Given the description of an element on the screen output the (x, y) to click on. 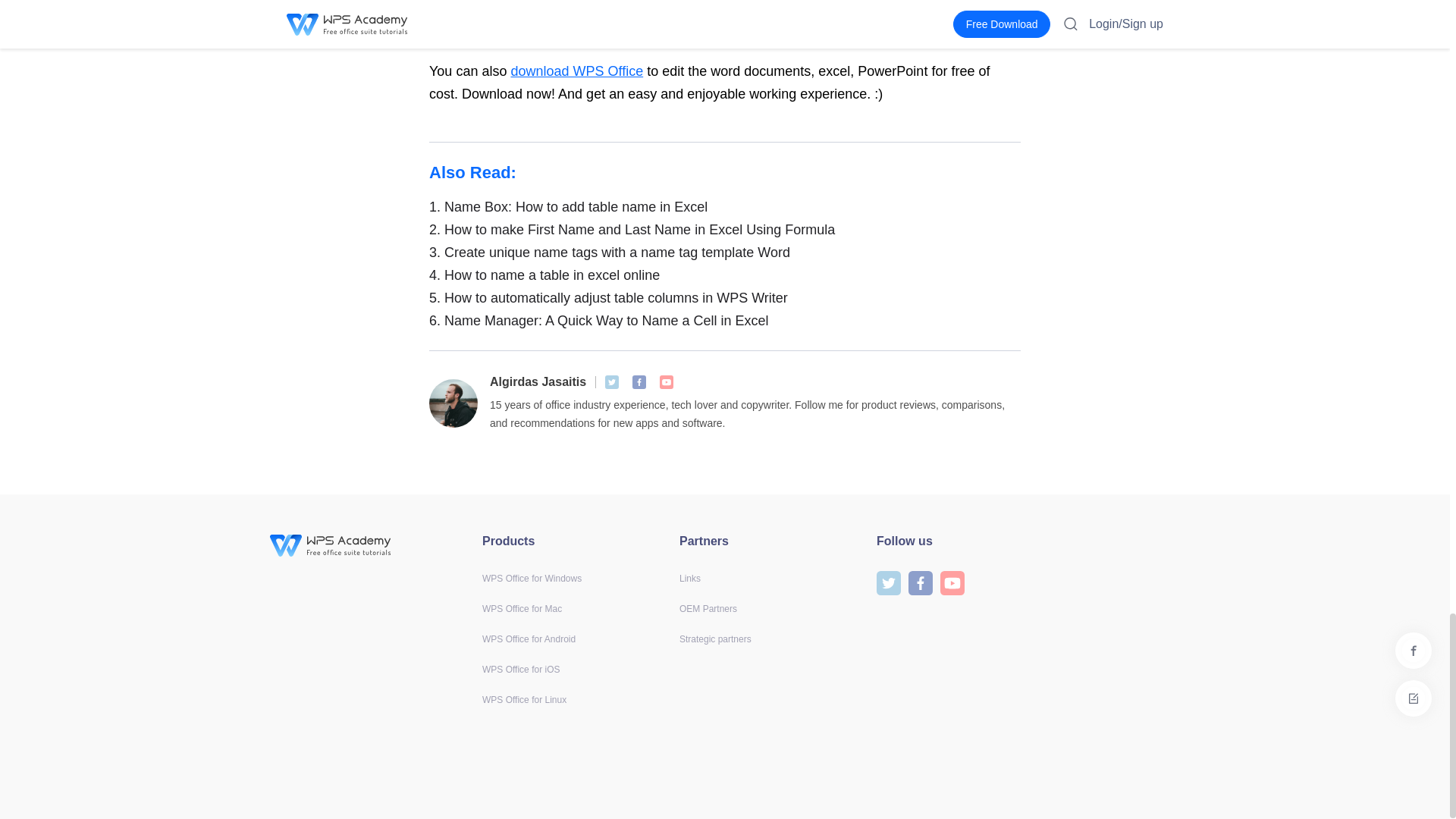
Create unique name tags with a name tag template Word (724, 251)
WPS Office for iOS (520, 669)
WPS Office Official YouTube (665, 382)
How to name a table in excel online (724, 274)
WPS Office Official Twitter (611, 382)
4. How to name a table in excel online (724, 274)
1. Name Box: How to add table name in Excel (724, 206)
download WPS Office (577, 70)
WPS Office for Android (528, 638)
Links (689, 578)
How to make First Name and Last Name in Excel Using Formula (724, 229)
View download WPS Office (577, 70)
WPS Office for Windows (530, 578)
Name Manager: A Quick Way to Name a Cell in Excel (724, 320)
WPS Office for Linux (523, 699)
